Given the description of an element on the screen output the (x, y) to click on. 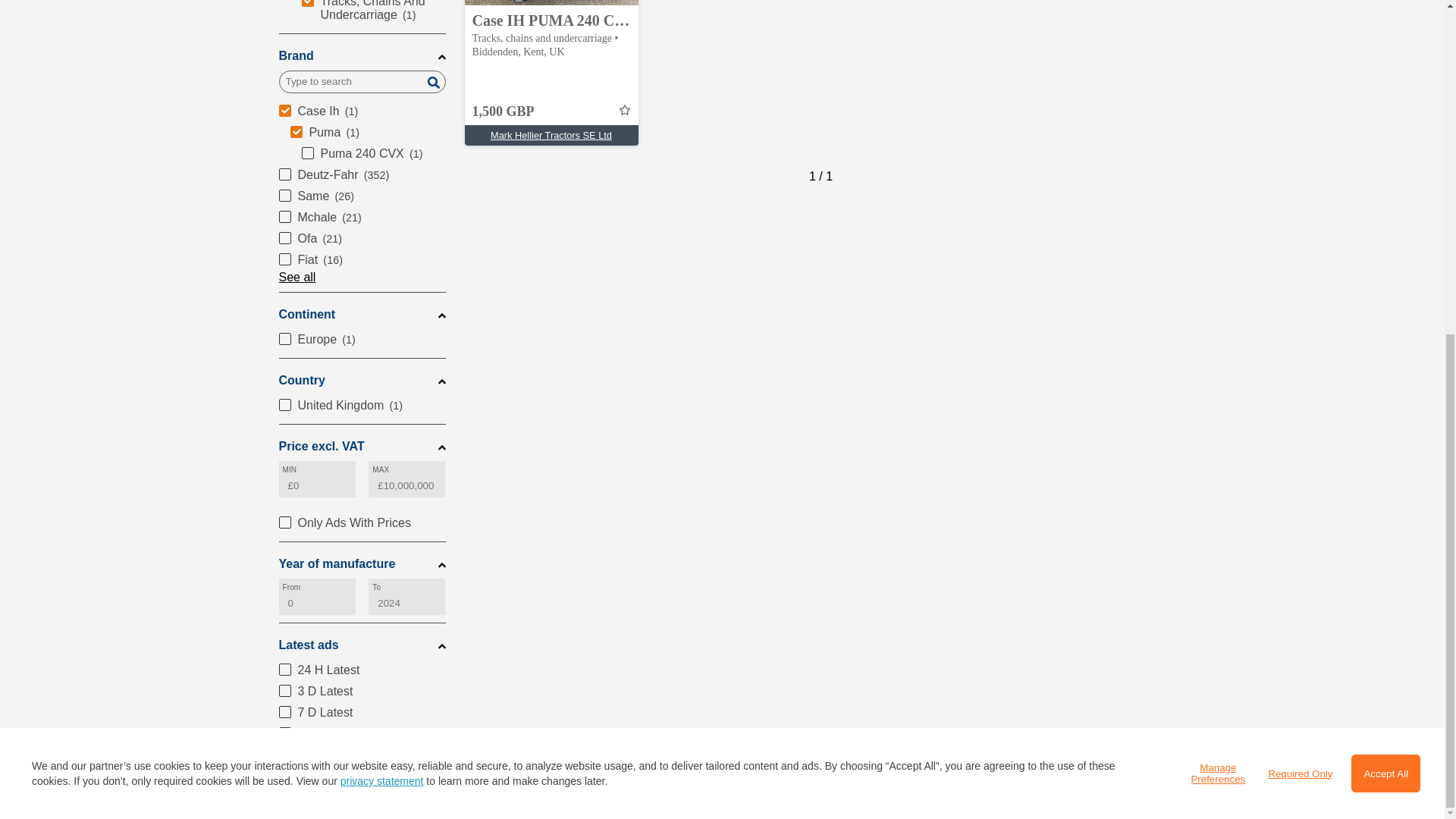
Mchale (362, 217)
Brand (362, 55)
Tracks, Chains And Undercarriage (373, 12)
Deutz-Fahr (362, 174)
Puma (367, 132)
Same (362, 196)
Puma 240 CVX (373, 153)
Manage Preferences (1217, 215)
Fiat (362, 260)
Required Only (1299, 215)
Accept All (1386, 215)
Case Ih (362, 111)
Ofa (362, 238)
privacy statement (381, 223)
